Given the description of an element on the screen output the (x, y) to click on. 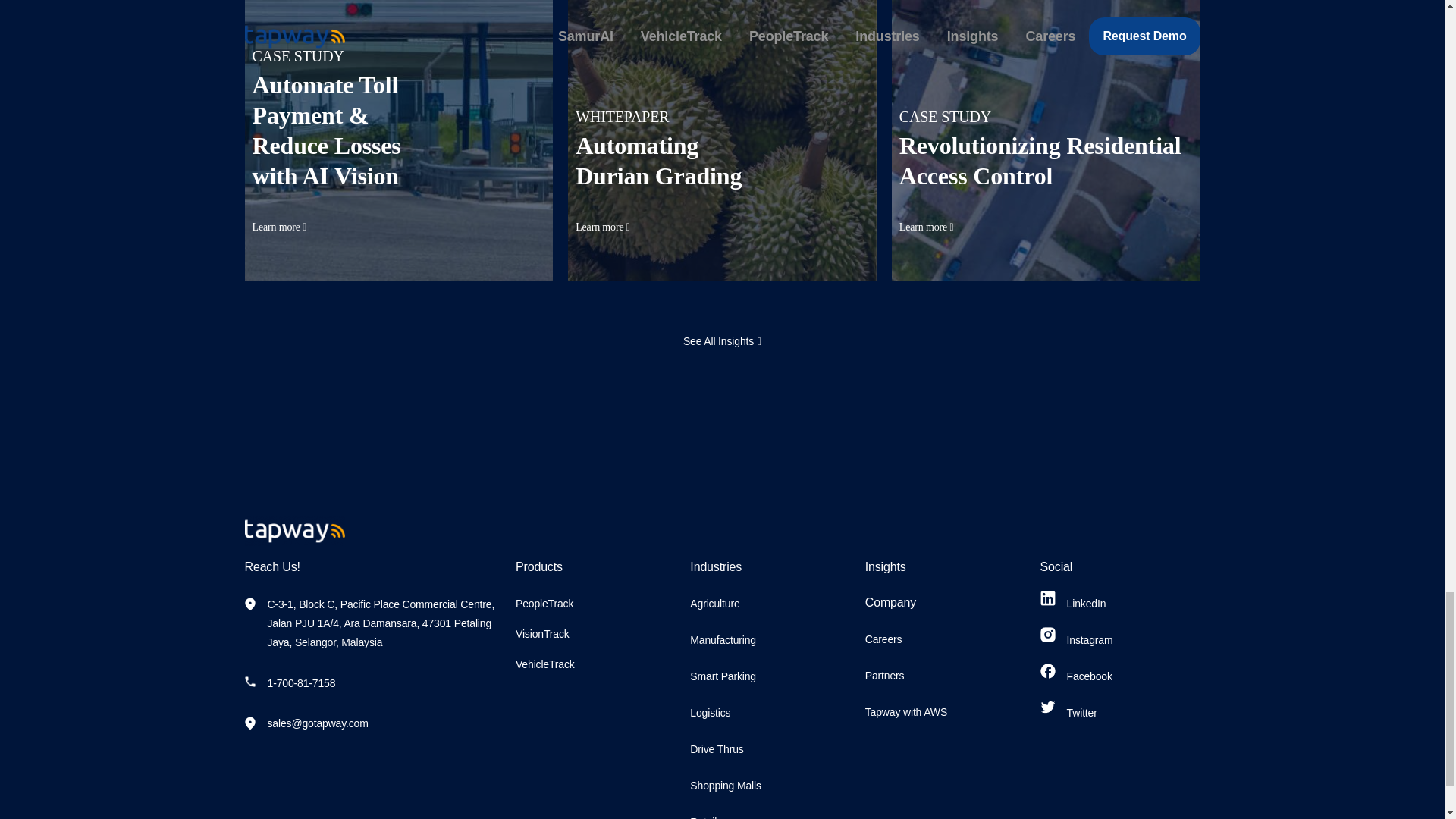
Tapway with AWS (905, 711)
Learn more (278, 226)
Retails (706, 817)
street (1045, 140)
LinkedIn (1073, 603)
VehicleTrack (545, 664)
PeopleTrack (544, 603)
See All Insights (721, 341)
tapwayLogo-white (293, 530)
Learn more (602, 226)
